Given the description of an element on the screen output the (x, y) to click on. 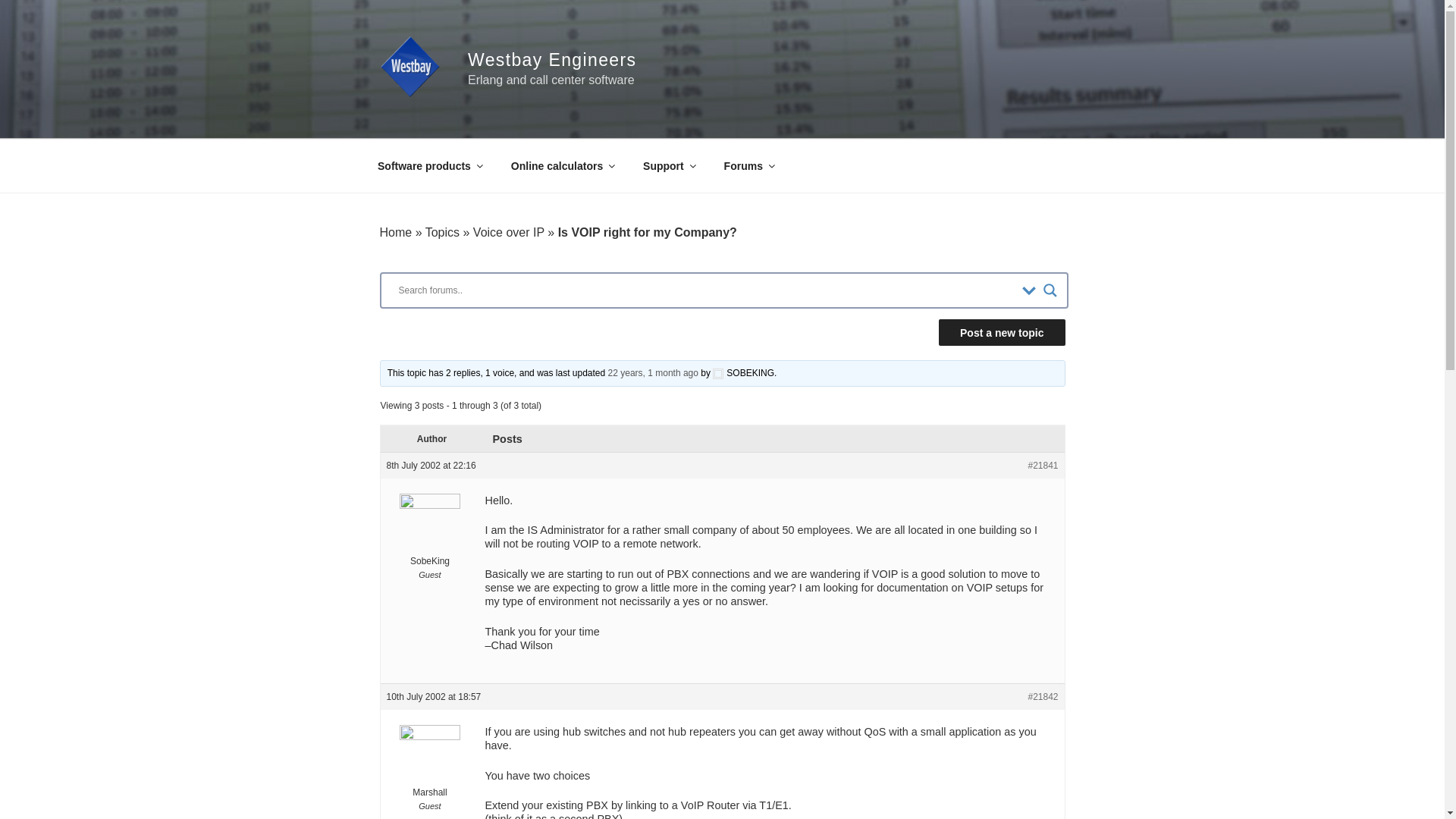
Reply To: Is VOIP right for my Company? (653, 372)
Online calculators (561, 165)
Forums (748, 165)
Support (668, 165)
Software products (429, 165)
Post a new topic (1001, 332)
Westbay Engineers (551, 59)
